Given the description of an element on the screen output the (x, y) to click on. 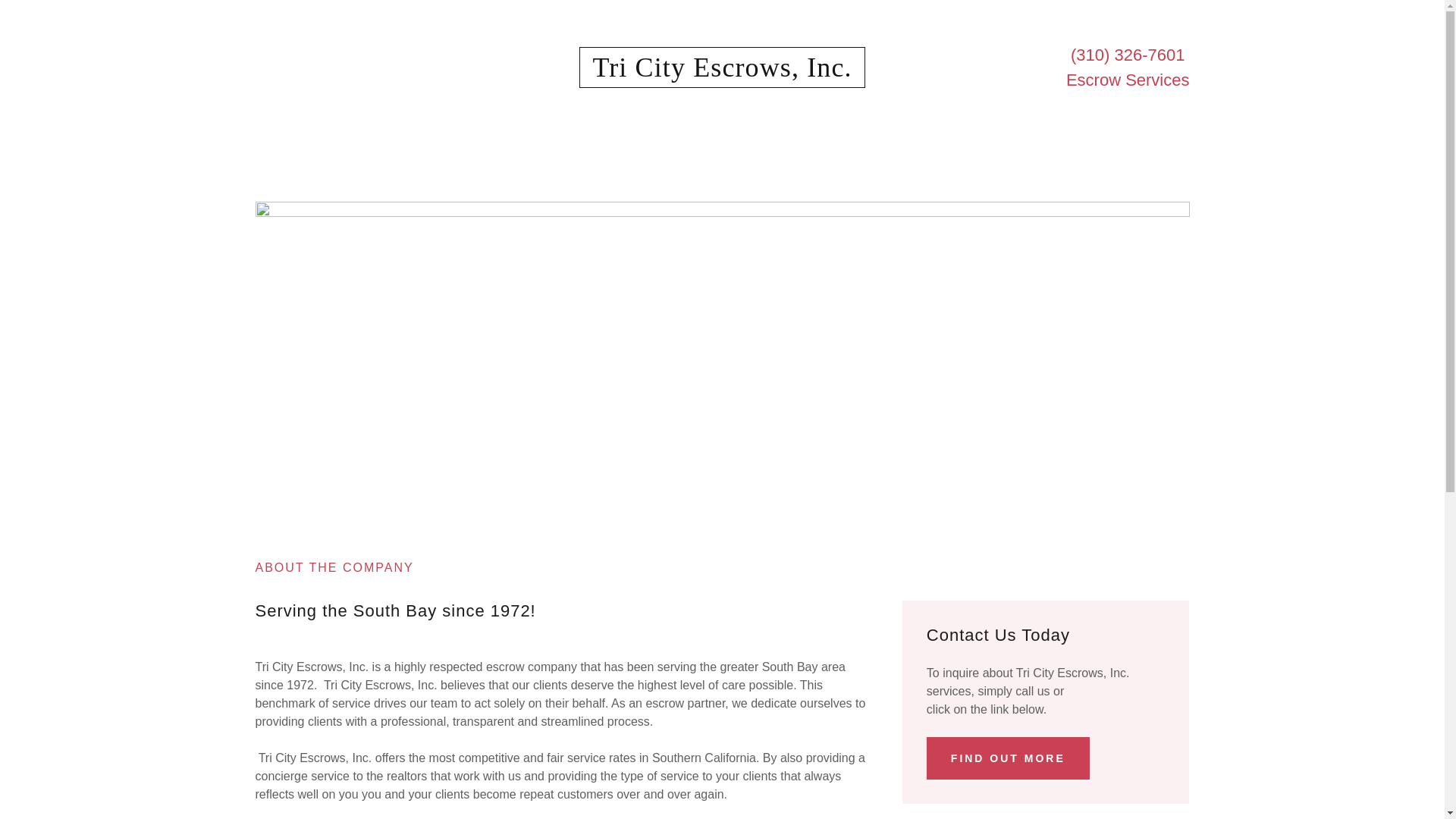
Tri City Escrows, Inc. (721, 72)
FIND OUT MORE (1007, 758)
Tri City Escrows, Inc. (721, 72)
